Given the description of an element on the screen output the (x, y) to click on. 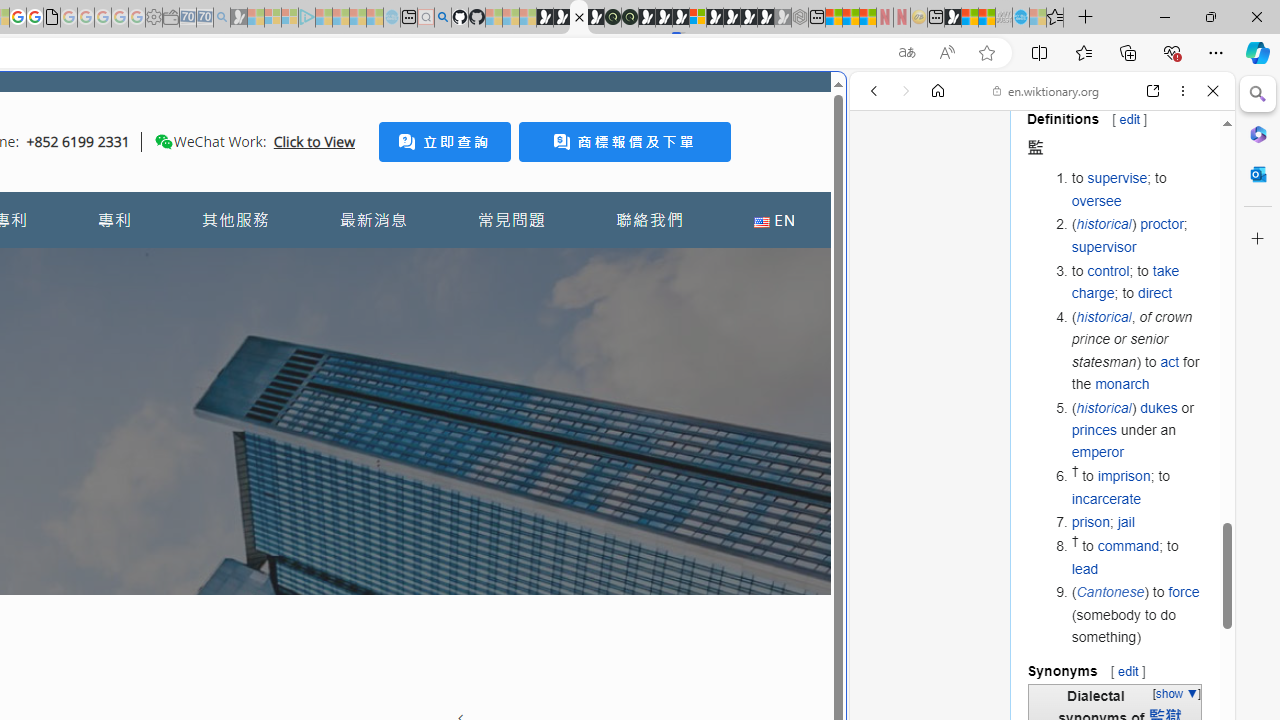
Wiktionary (1034, 669)
take charge (1125, 281)
EN (774, 220)
Earth has six continents not seven, radical new study claims (986, 17)
en.wiktionary.org (1046, 90)
Search Filter, Search Tools (1093, 228)
Settings - Sleeping (153, 17)
Open link in new tab (1153, 91)
Cheap Car Rentals - Save70.com - Sleeping (204, 17)
